Given the description of an element on the screen output the (x, y) to click on. 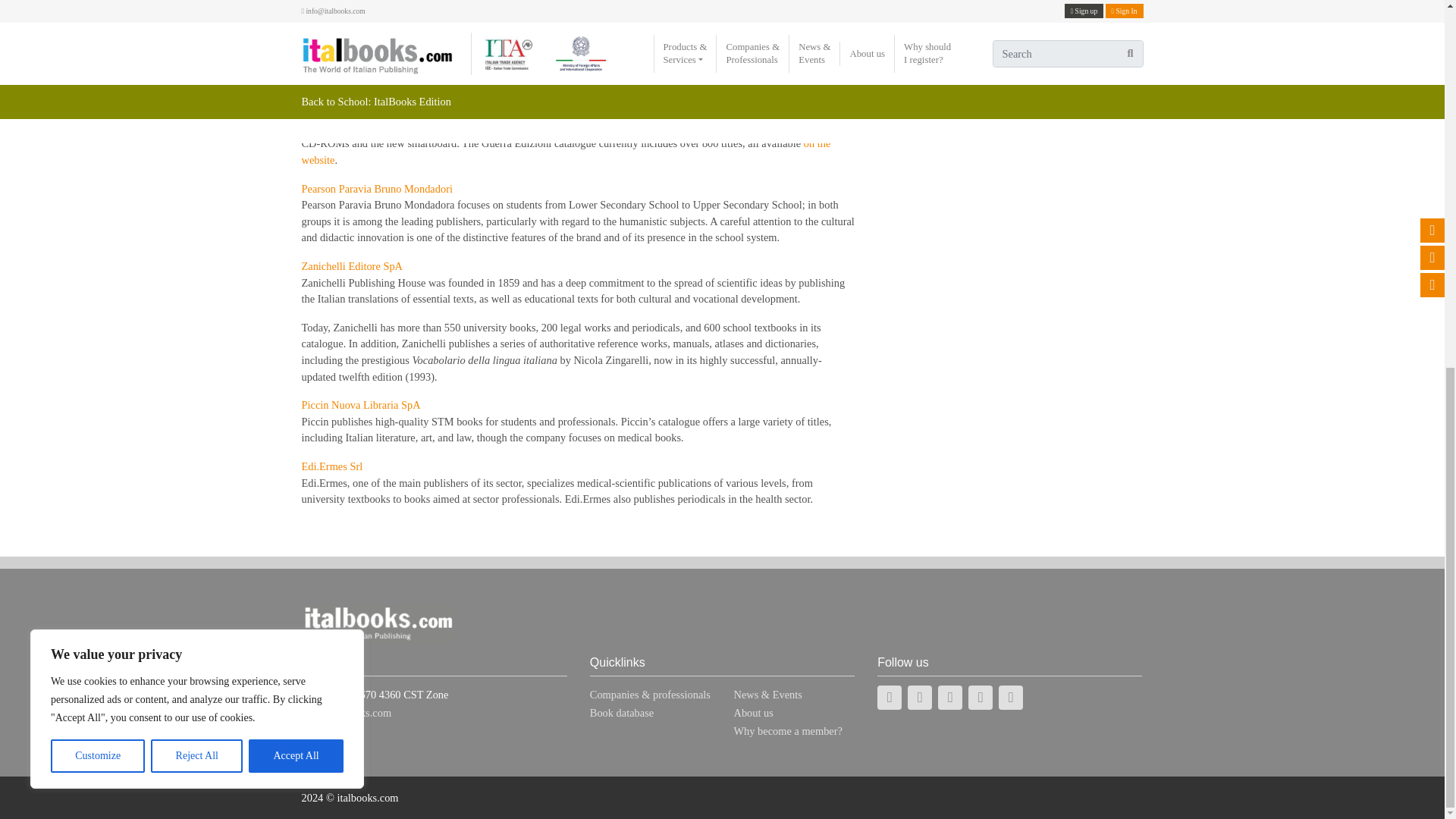
Guerra Edizioni (336, 94)
Accept All (295, 92)
Customize (97, 92)
Reject All (197, 92)
on the website (566, 151)
Pearson Paravia Bruno Mondadori (376, 188)
ELI Edizioni (329, 2)
Piccin Nuova Libraria SpA (360, 404)
Zanichelli Editore SpA (352, 265)
